Given the description of an element on the screen output the (x, y) to click on. 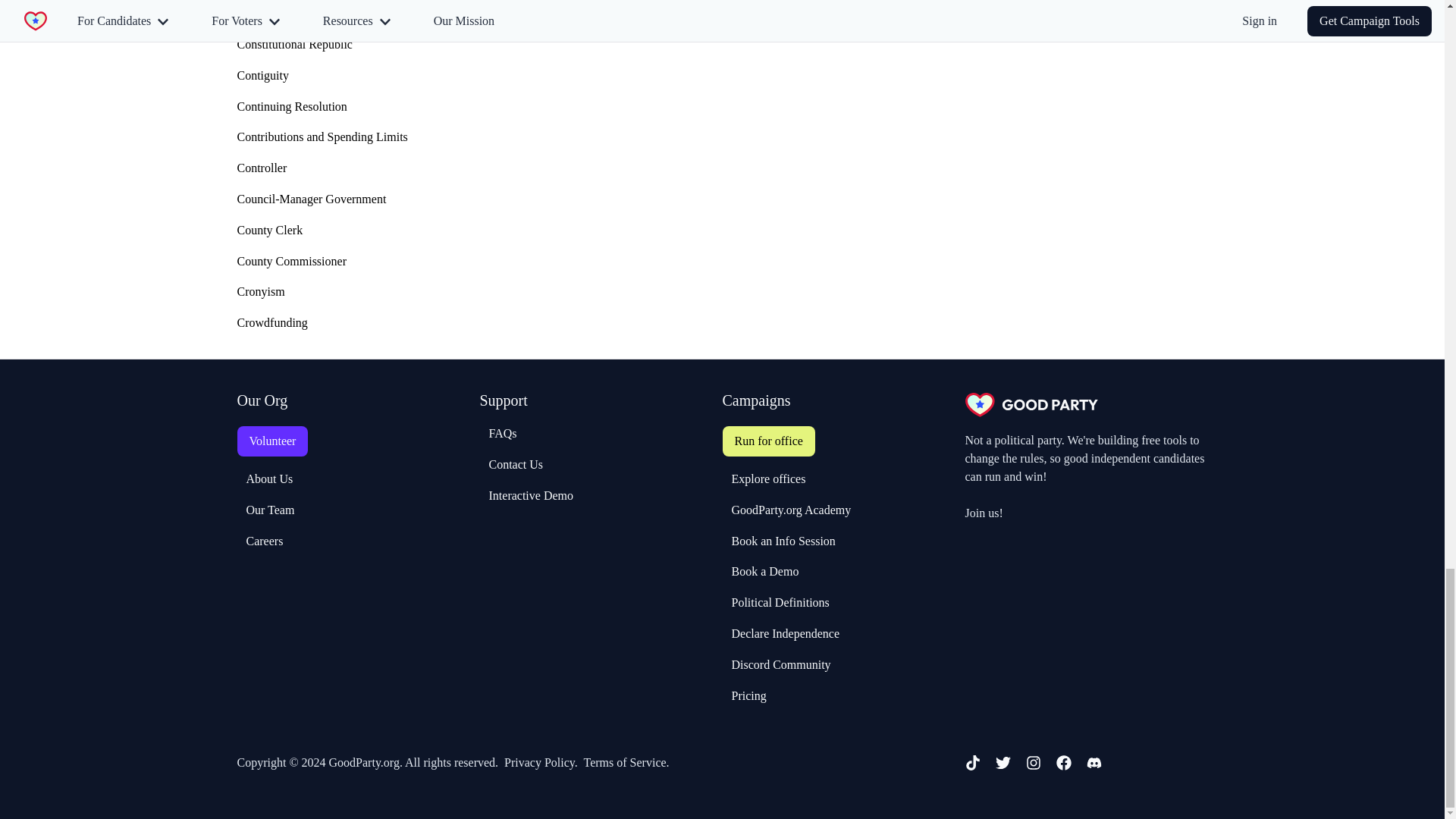
Discord (1093, 762)
Facebook (1062, 762)
TikTok (971, 762)
Discord Community (775, 664)
Twitter (1002, 762)
Instagram (1033, 762)
